Given the description of an element on the screen output the (x, y) to click on. 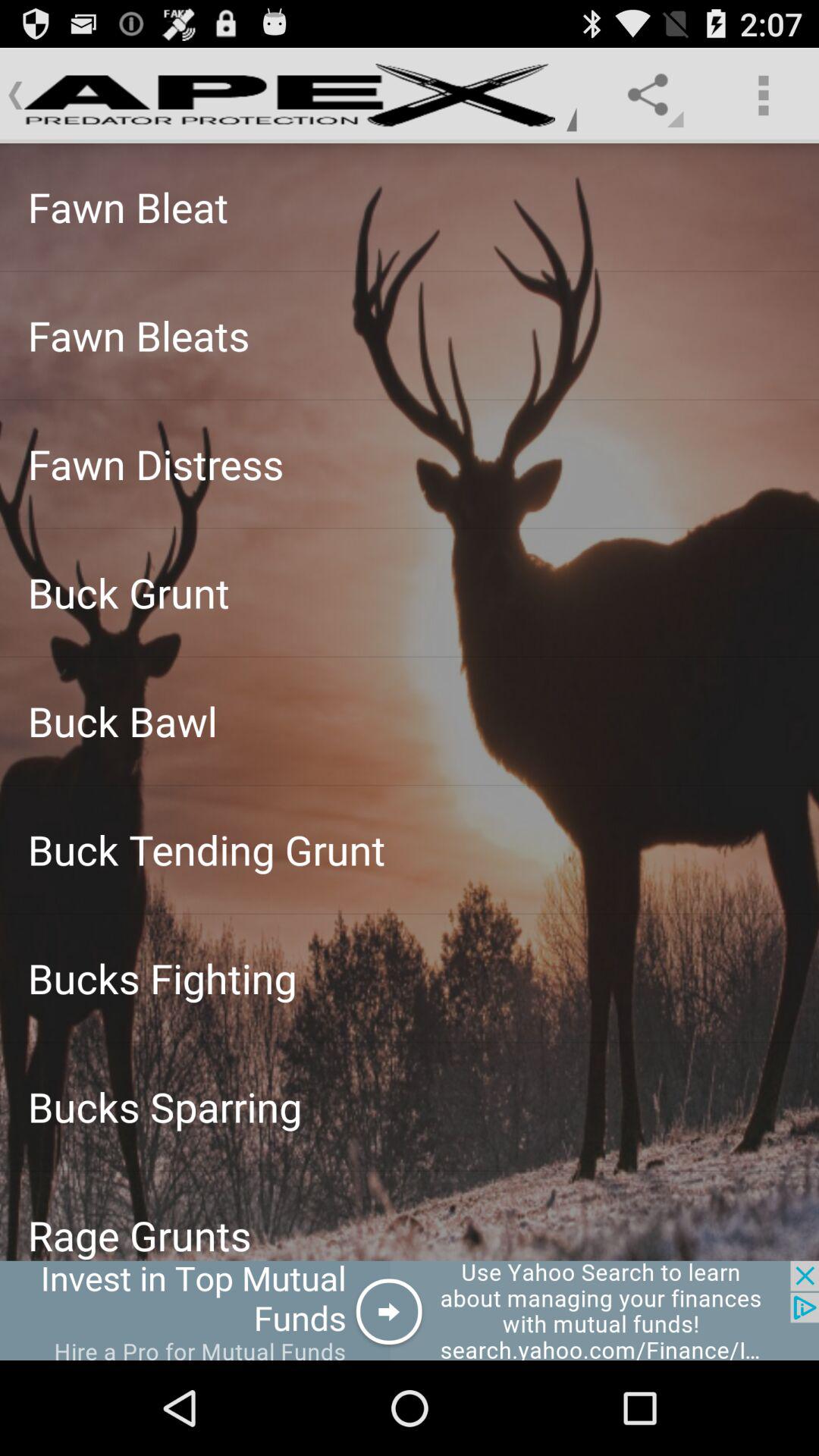
click on the 3 vertical dots at the top right corner of the page (763, 95)
click on share icon on the right side of apex (651, 95)
